Given the description of an element on the screen output the (x, y) to click on. 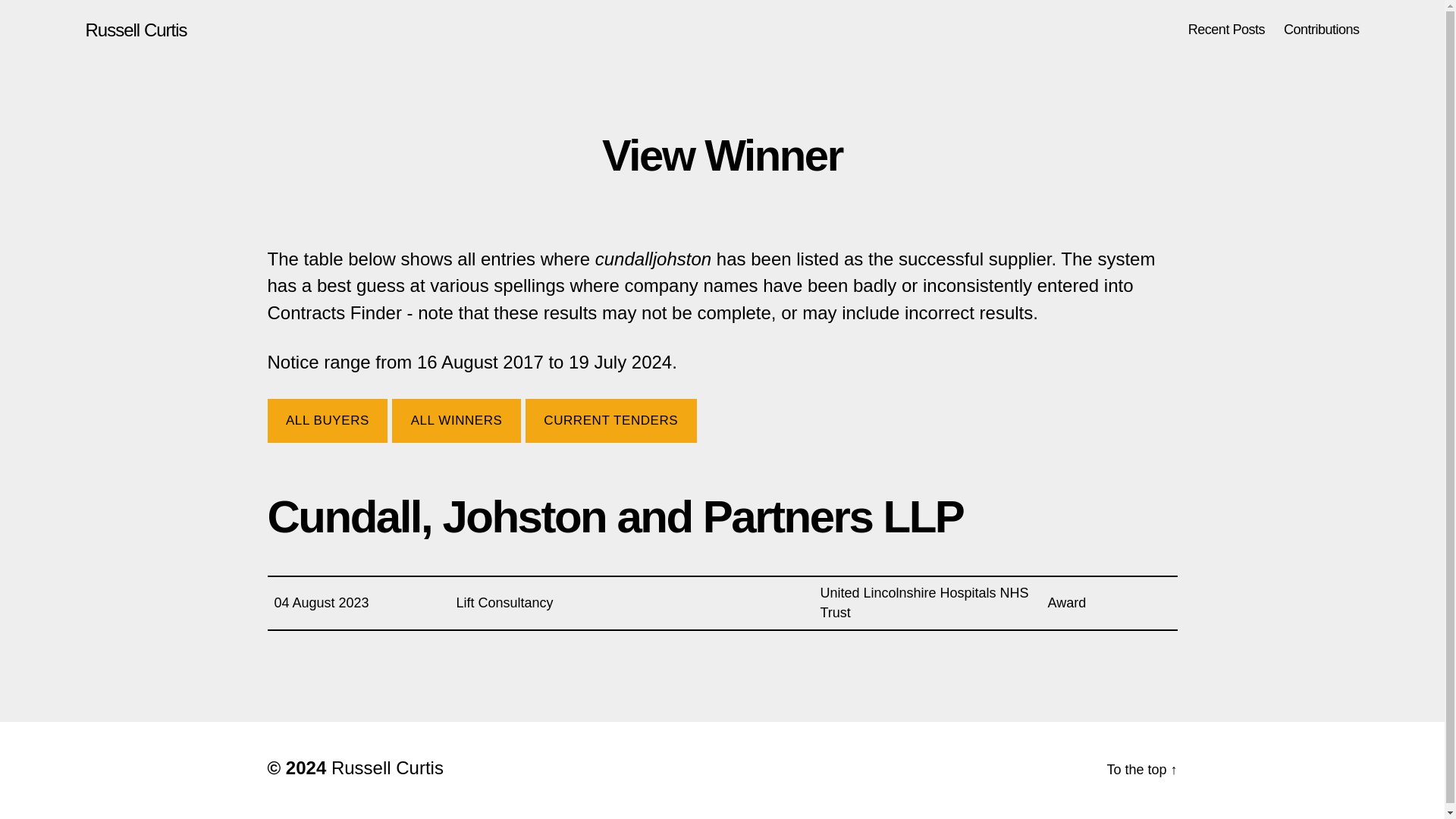
Russell Curtis (387, 767)
Lift Consultancy (505, 602)
ALL BUYERS (326, 420)
CURRENT TENDERS (611, 420)
Contributions (1321, 30)
Recent Posts (1226, 30)
ALL WINNERS (456, 420)
Russell Curtis (135, 30)
